Given the description of an element on the screen output the (x, y) to click on. 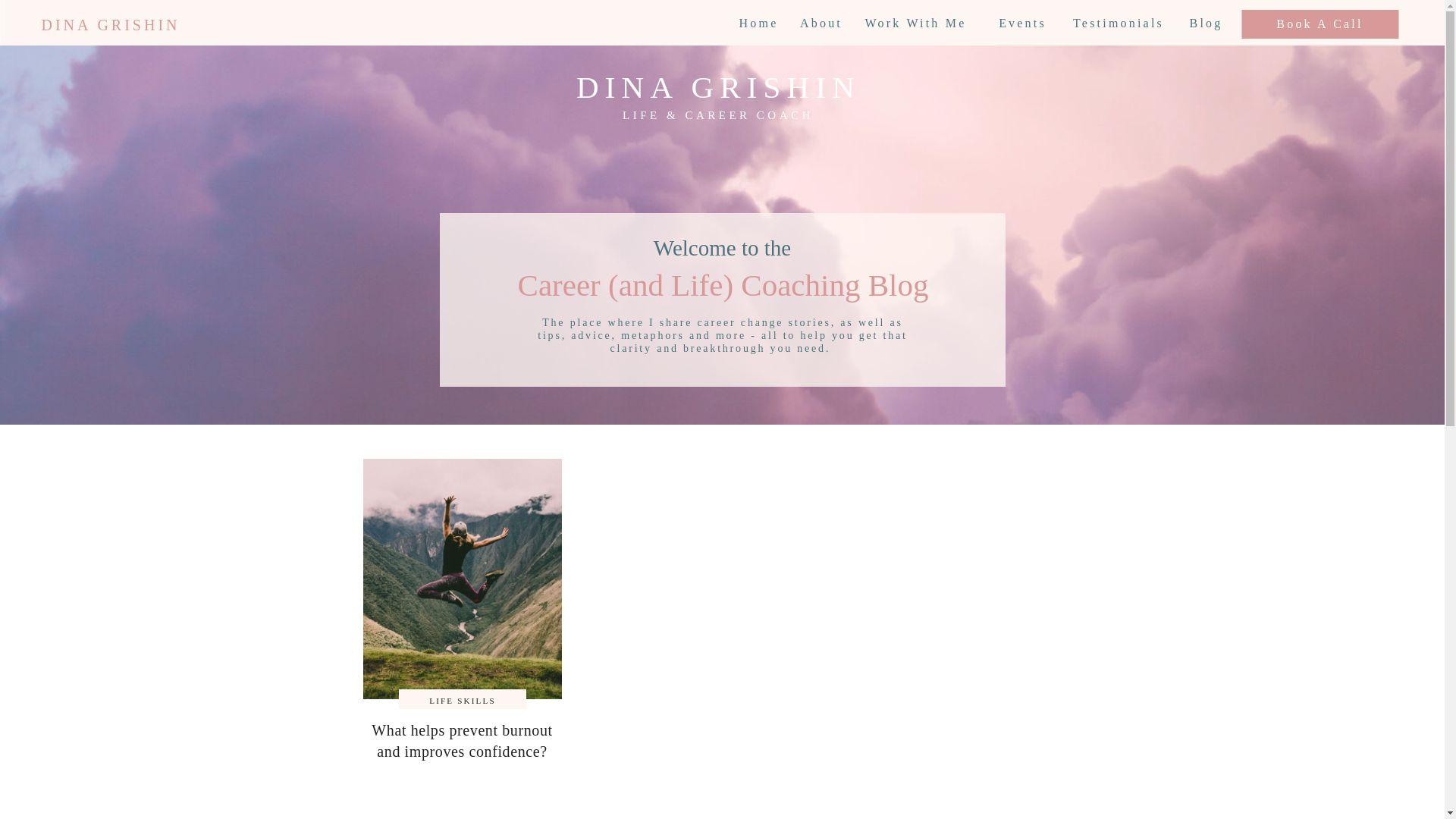
LIFE SKILLS (462, 700)
Home (759, 23)
Work With Me (915, 23)
Testimonials (1117, 23)
What helps prevent burnout and improves confidence? (461, 740)
About (821, 23)
DINA GRISHIN (718, 85)
Blog (1205, 23)
DINA GRISHIN (110, 24)
Events (1022, 23)
Book A Call (1319, 25)
